Given the description of an element on the screen output the (x, y) to click on. 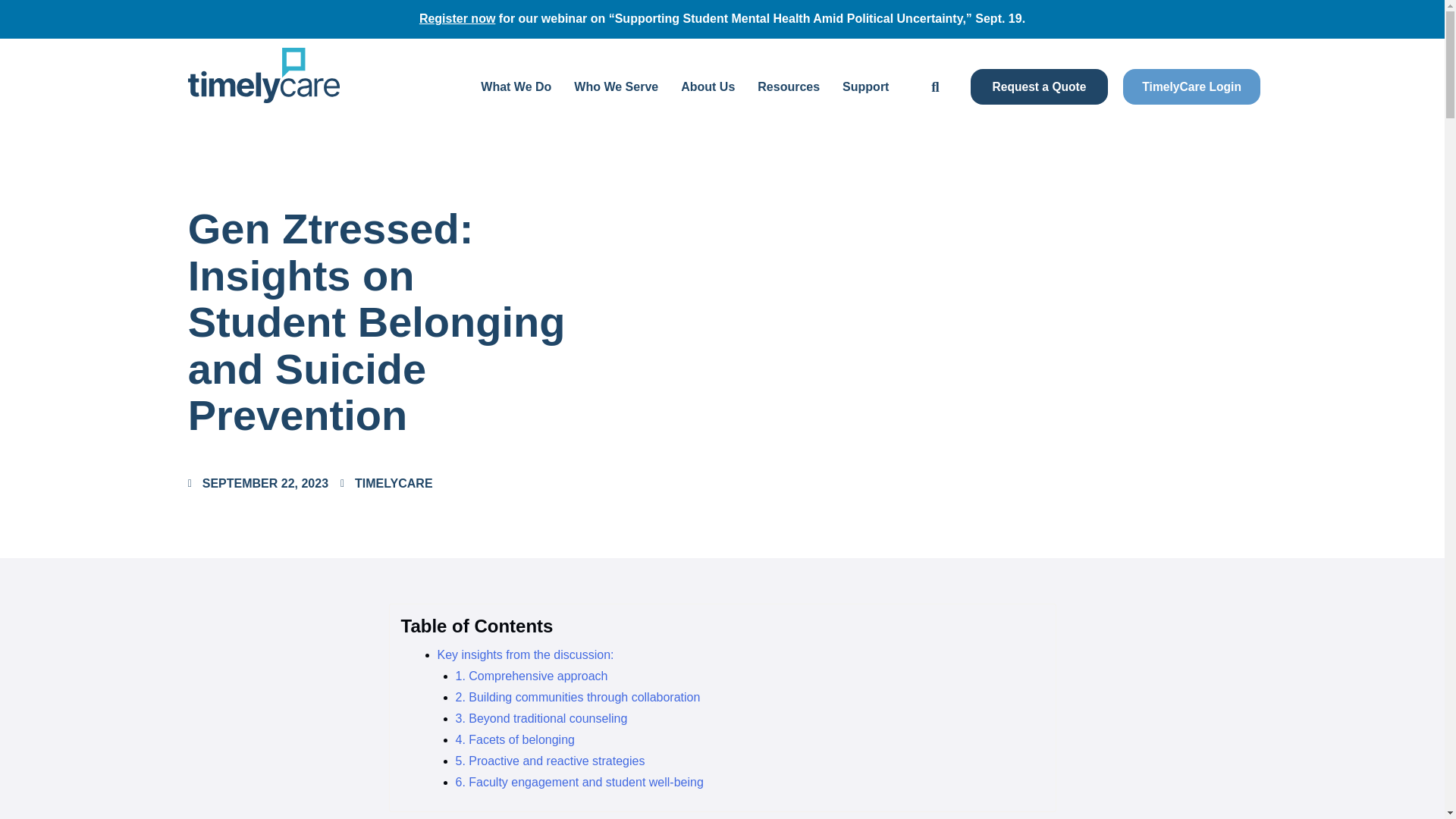
6. Faculty engagement and student well-being (578, 781)
5. Proactive and reactive strategies (549, 760)
About Us (707, 86)
Resources (788, 86)
TIMELYCARE (386, 483)
What We Do (515, 86)
2. Building communities through collaboration (577, 697)
5. Proactive and reactive strategies (549, 760)
4. Facets of belonging (513, 739)
4. Facets of belonging (513, 739)
